Given the description of an element on the screen output the (x, y) to click on. 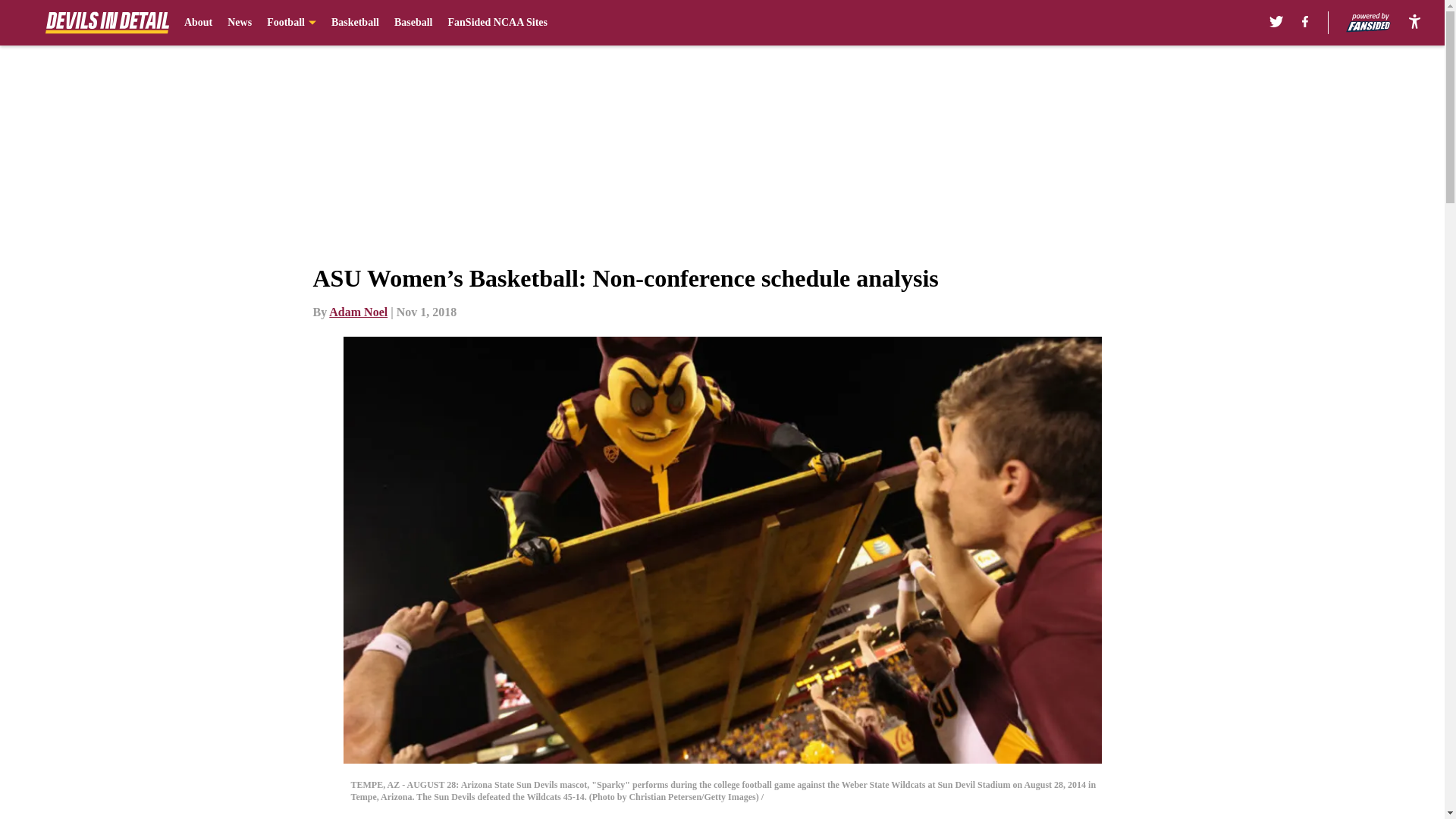
Adam Noel (358, 311)
Baseball (413, 22)
Basketball (354, 22)
FanSided NCAA Sites (497, 22)
News (239, 22)
About (198, 22)
